Given the description of an element on the screen output the (x, y) to click on. 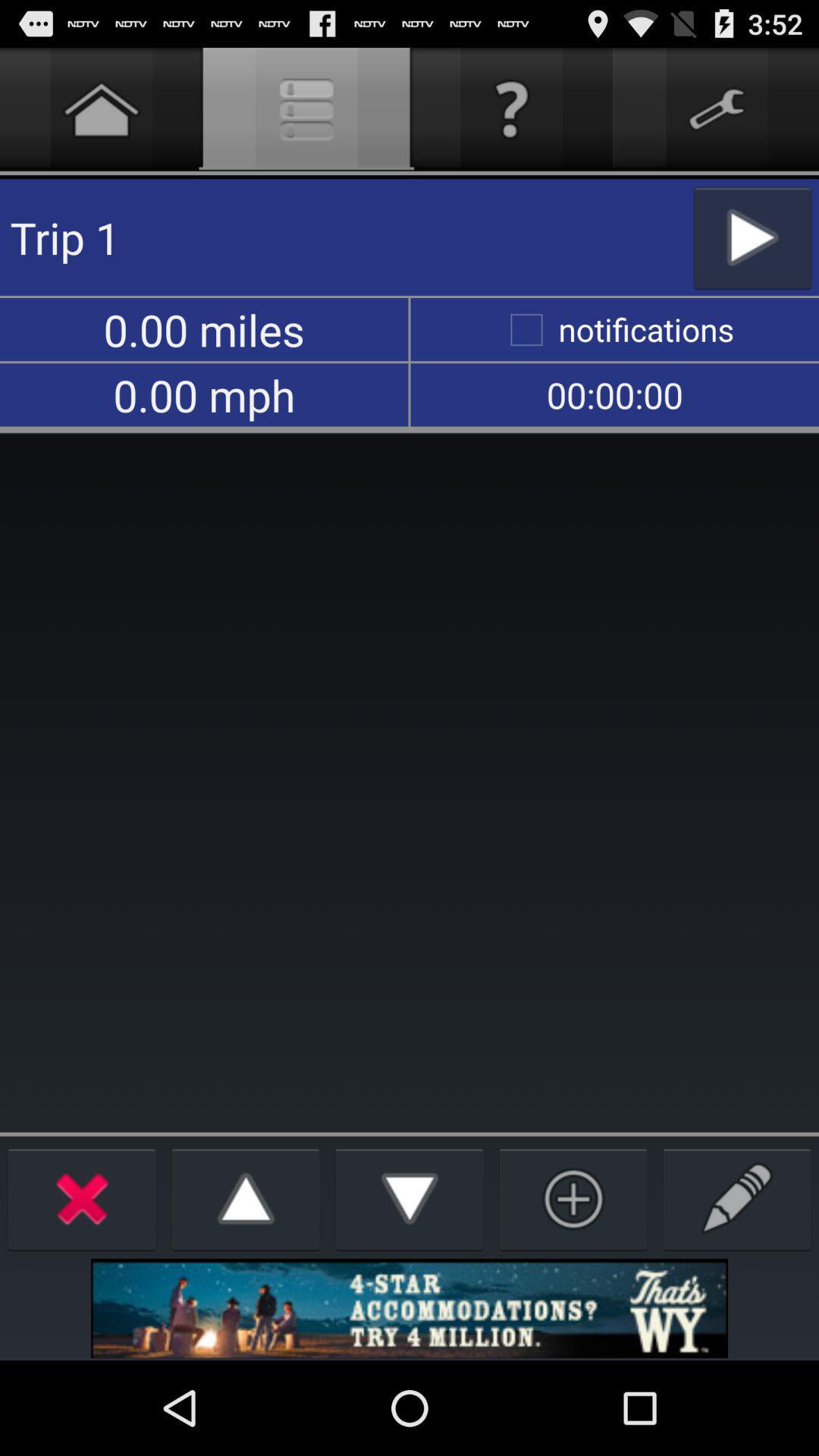
add option (573, 1198)
